Given the description of an element on the screen output the (x, y) to click on. 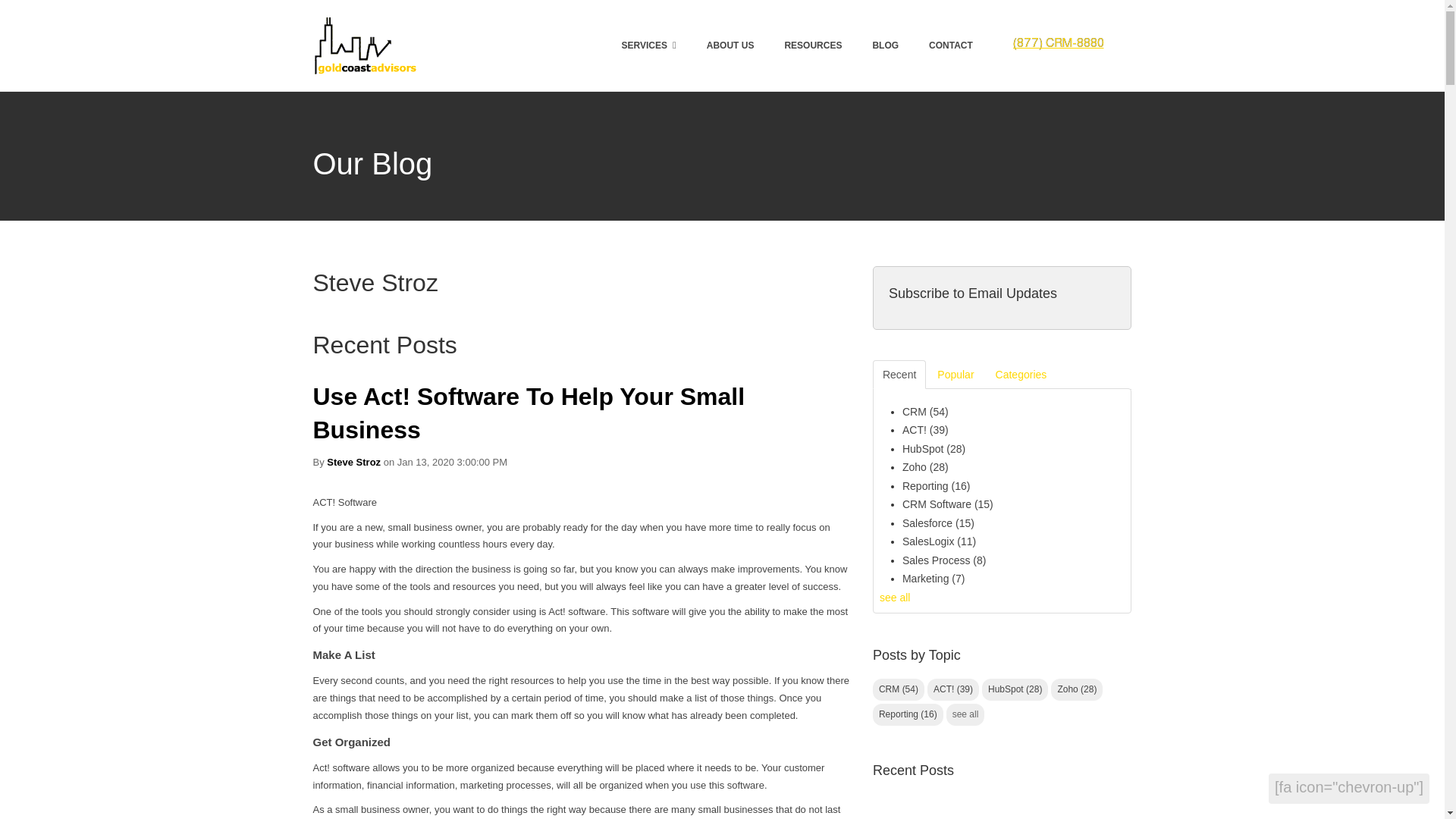
SERVICES (648, 45)
Steve Stroz (353, 461)
Use Act! Software To Help Your Small Business (528, 413)
RESOURCES (813, 45)
Gold Coast Advisors (366, 45)
ABOUT US (730, 45)
BLOG (885, 45)
CONTACT (950, 45)
